Given the description of an element on the screen output the (x, y) to click on. 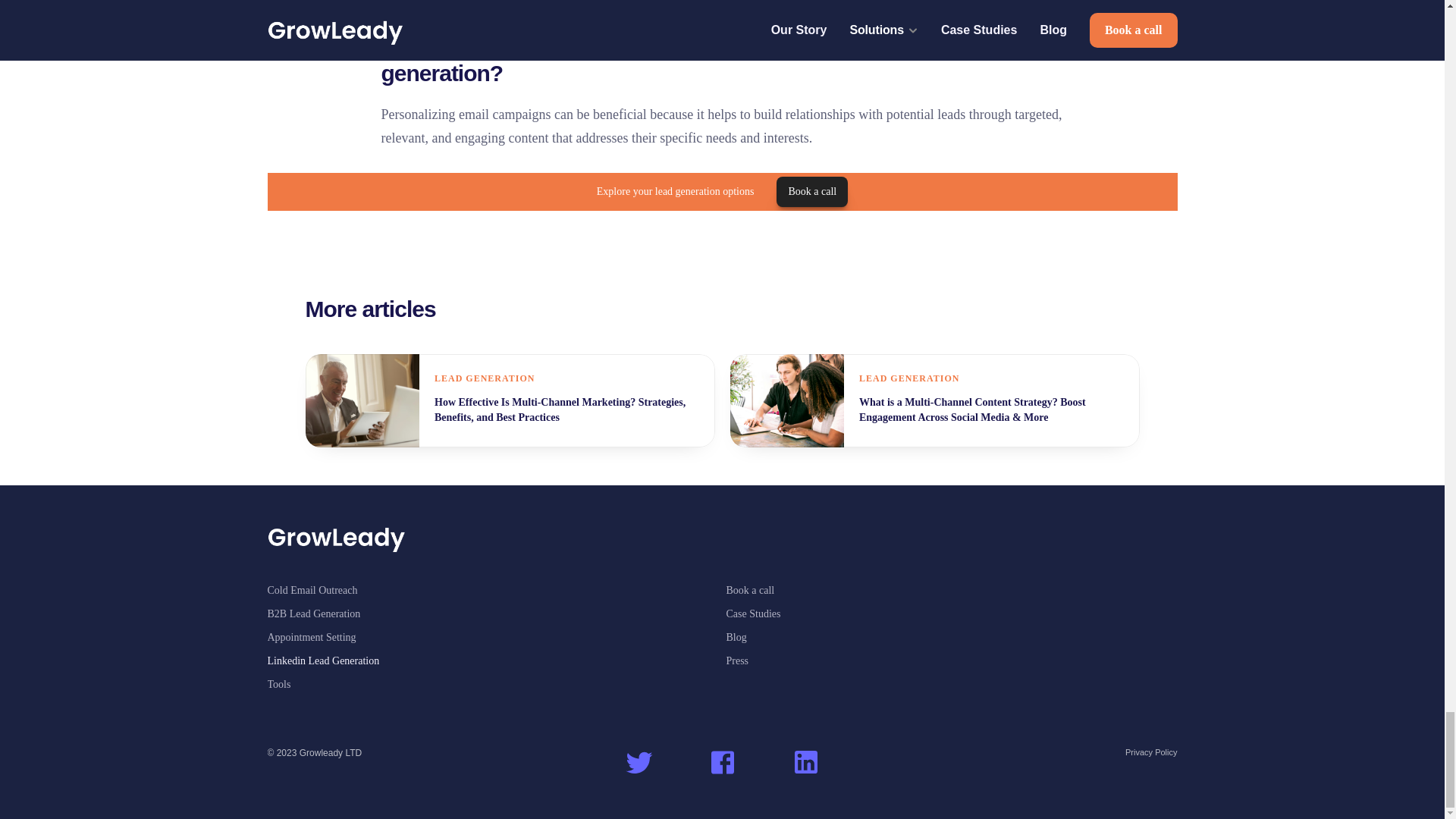
Press (737, 660)
Appointment Setting (310, 636)
Cold Email Outreach (311, 590)
Linkedin Lead Generation (322, 660)
Book a call (811, 191)
Book a call (750, 590)
B2B Lead Generation (312, 613)
Tools (277, 684)
Case Studies (753, 613)
Privacy Policy (1150, 751)
